Given the description of an element on the screen output the (x, y) to click on. 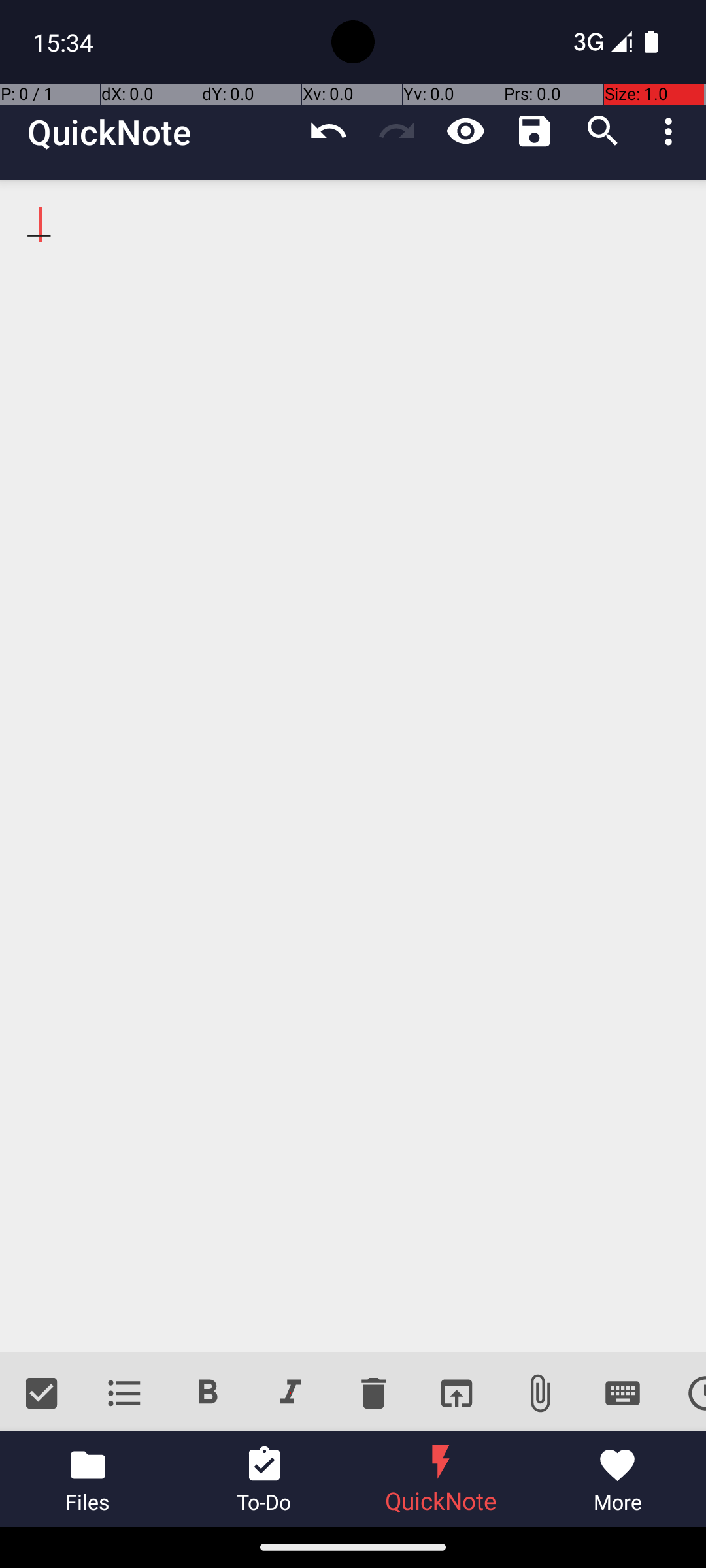
__ Element type: android.widget.EditText (353, 765)
